Given the description of an element on the screen output the (x, y) to click on. 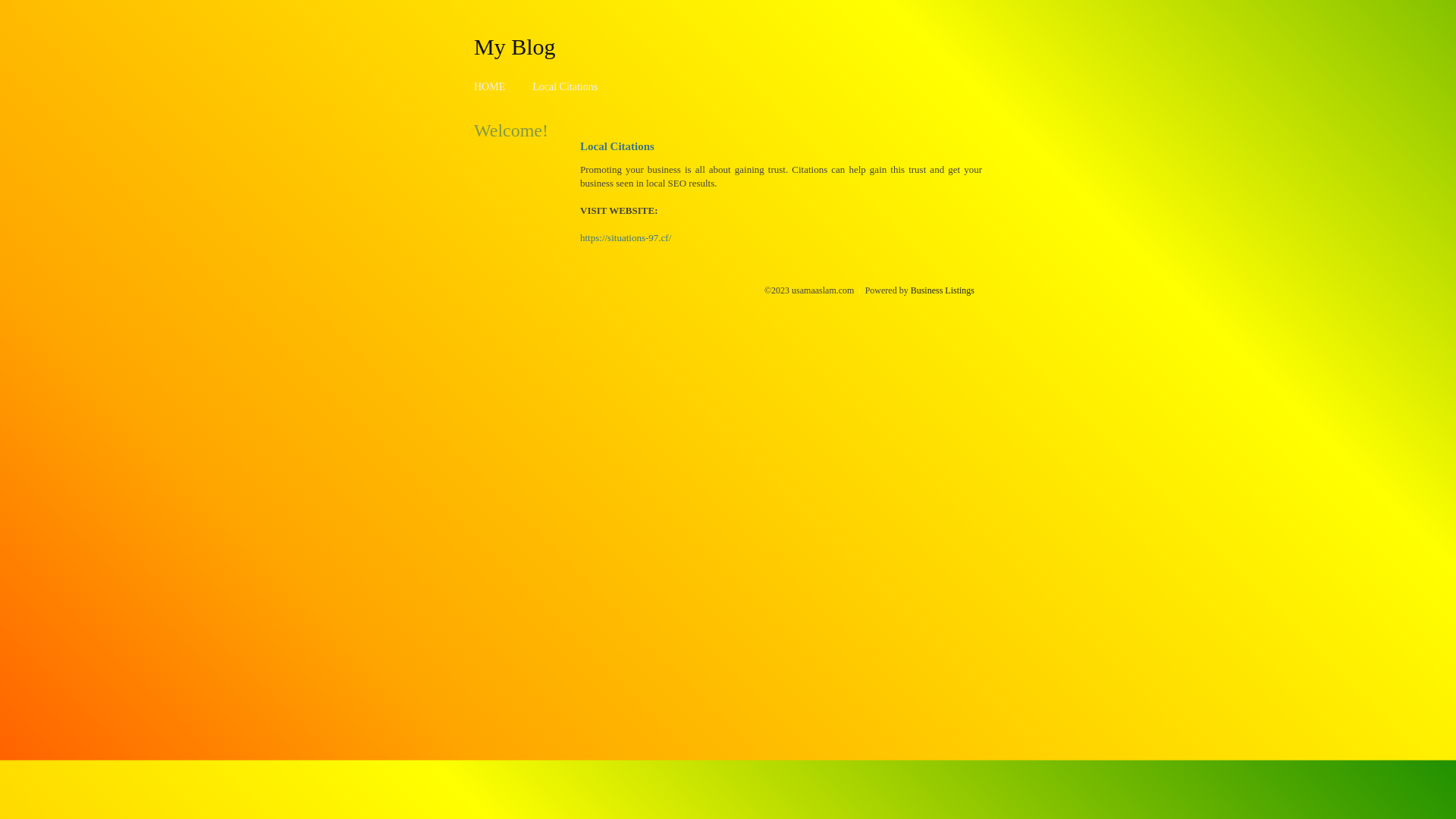
HOME Element type: text (489, 86)
https://situations-97.cf/ Element type: text (625, 237)
Business Listings Element type: text (942, 290)
My Blog Element type: text (514, 46)
Local Citations Element type: text (564, 86)
